Given the description of an element on the screen output the (x, y) to click on. 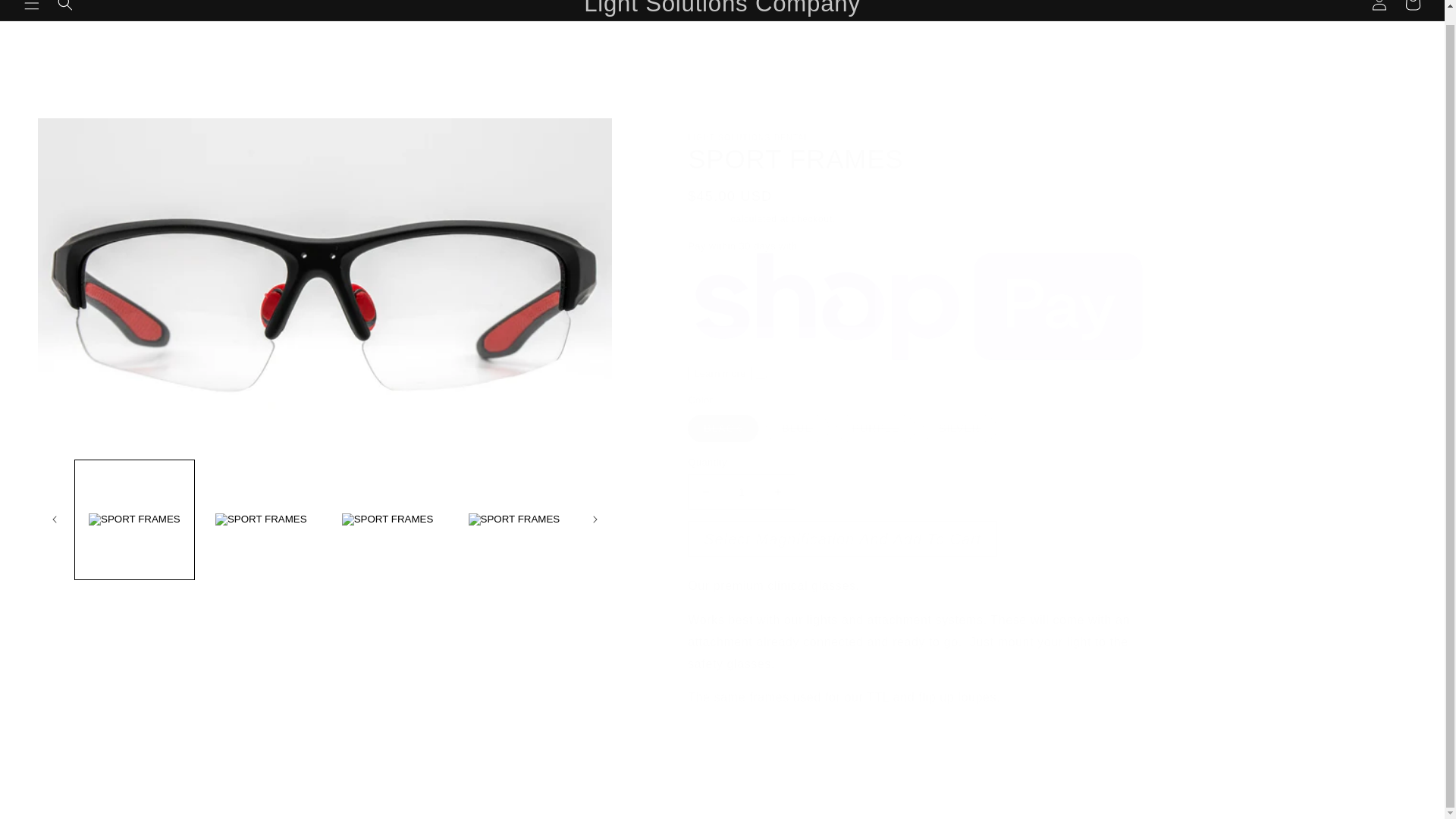
Skip to content (67, 10)
Skip to product information (105, 135)
1 (741, 491)
Cart (1412, 9)
Log in (1379, 9)
Light Solutions Company (722, 10)
